Given the description of an element on the screen output the (x, y) to click on. 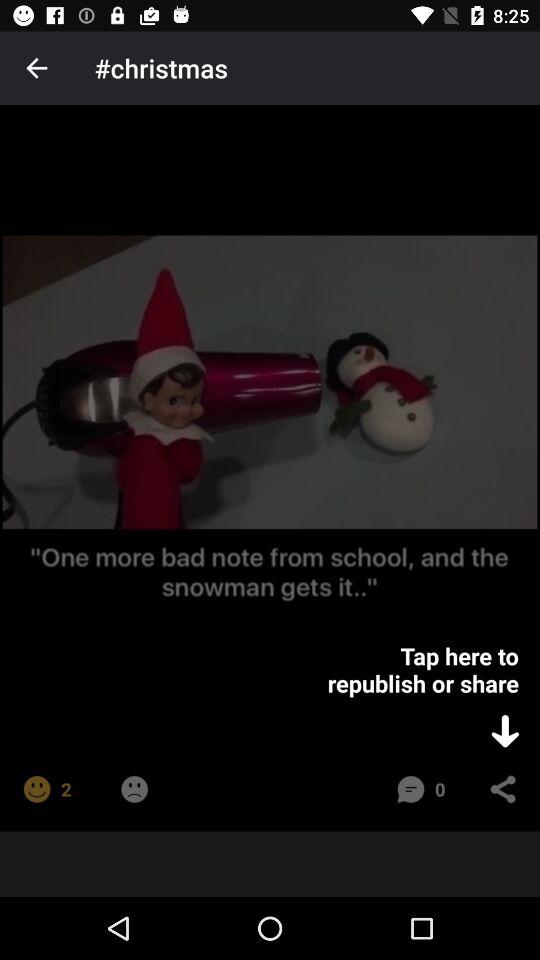
click on the message icon (410, 789)
click on the icon above share icon (504, 730)
select the icon which is left side of the 2 (36, 789)
click on the image along with the two lines text below it (269, 426)
the share icon to the right of 0 at the bottom right corner (503, 789)
